Given the description of an element on the screen output the (x, y) to click on. 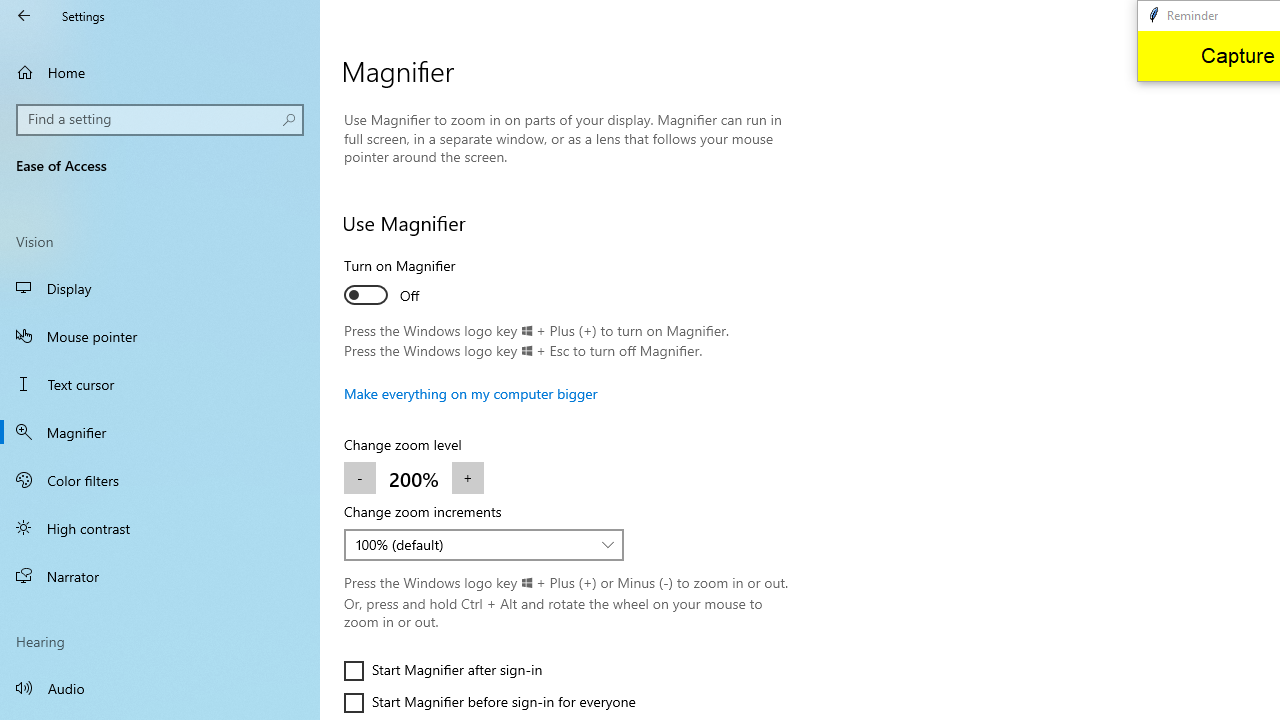
Text cursor (160, 384)
Search box, Find a setting (160, 119)
Zoom in (467, 477)
Back (24, 15)
